Given the description of an element on the screen output the (x, y) to click on. 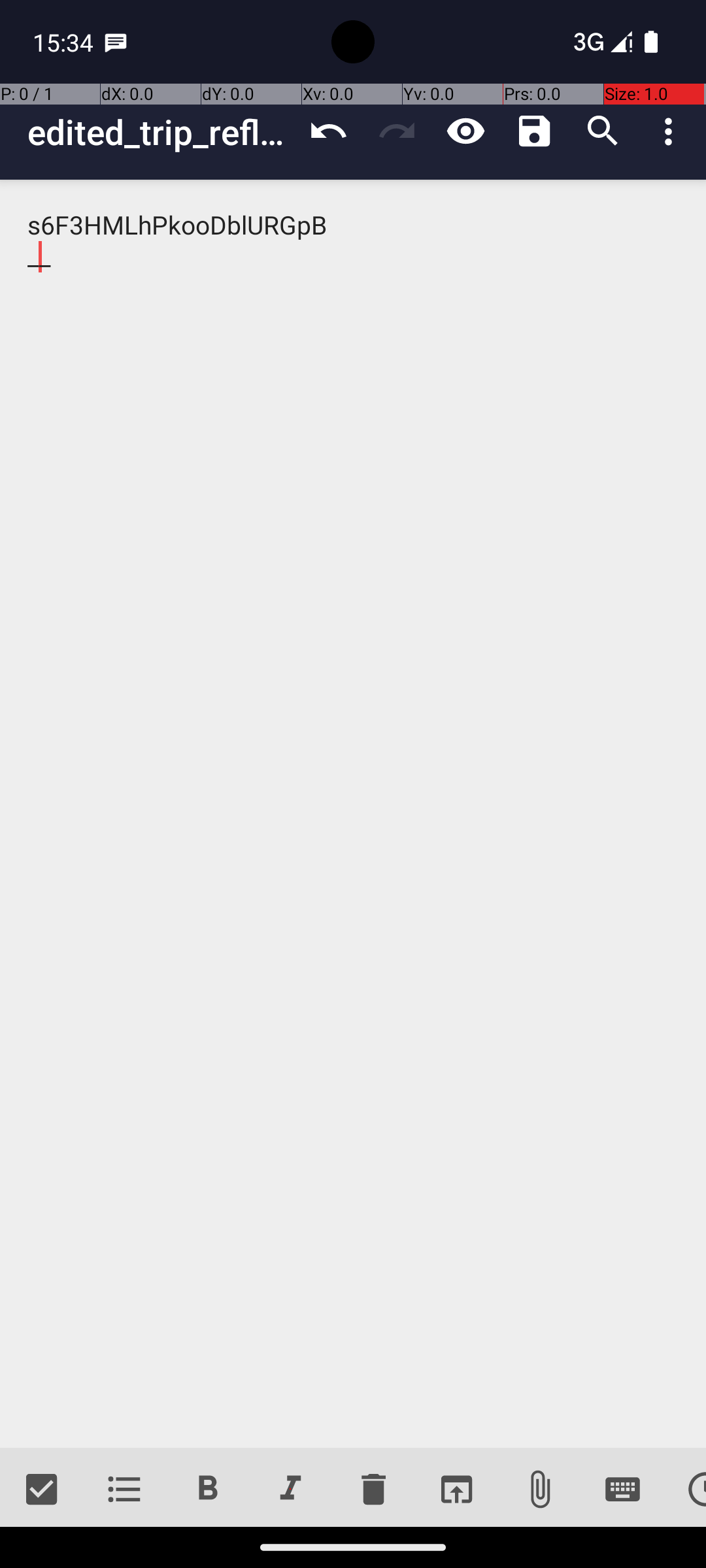
edited_trip_reflections_recent Element type: android.widget.TextView (160, 131)
s6F3HMLhPkooDblURGpB
__ Element type: android.widget.EditText (353, 813)
